Given the description of an element on the screen output the (x, y) to click on. 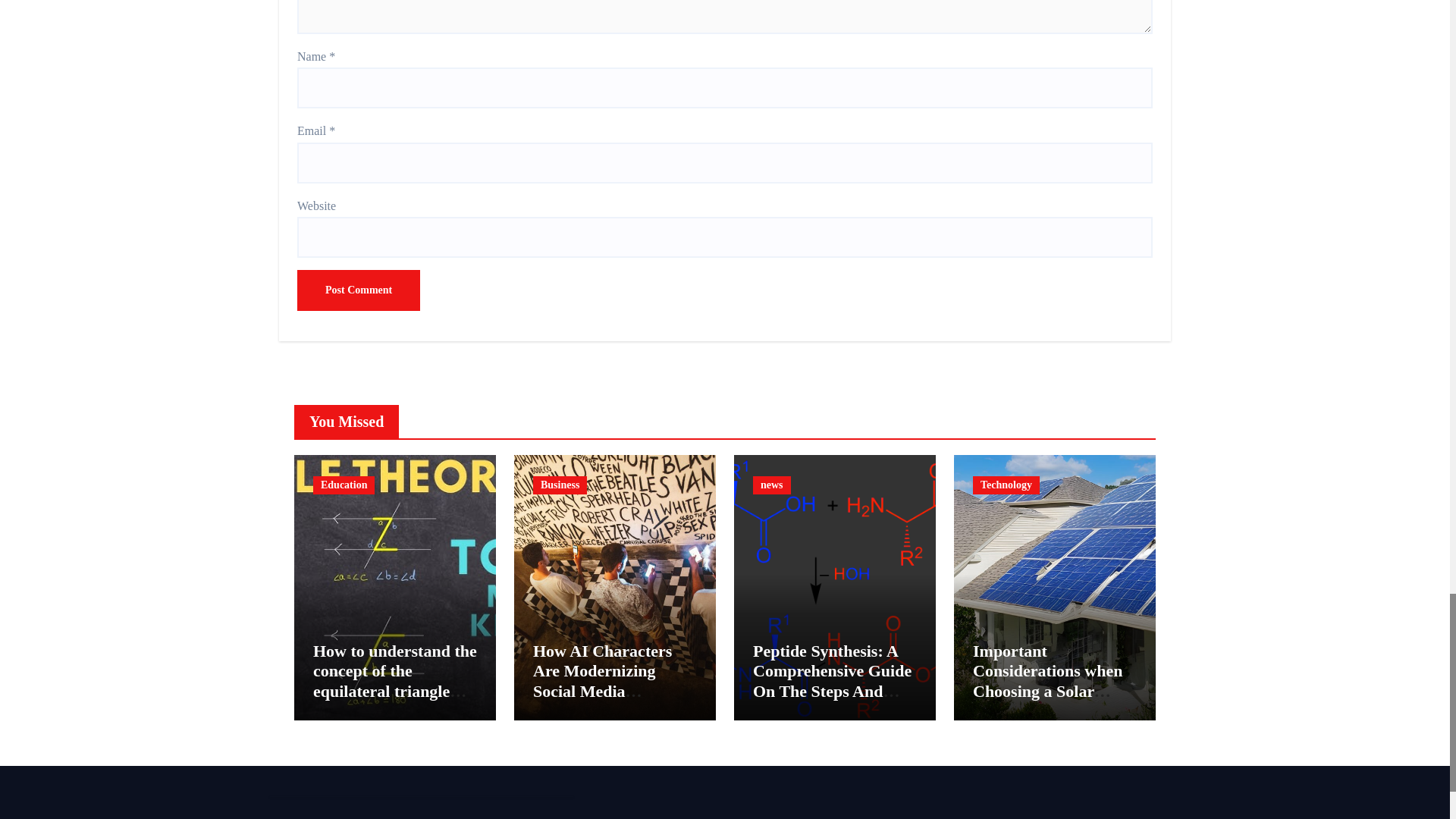
Post Comment (358, 290)
